Given the description of an element on the screen output the (x, y) to click on. 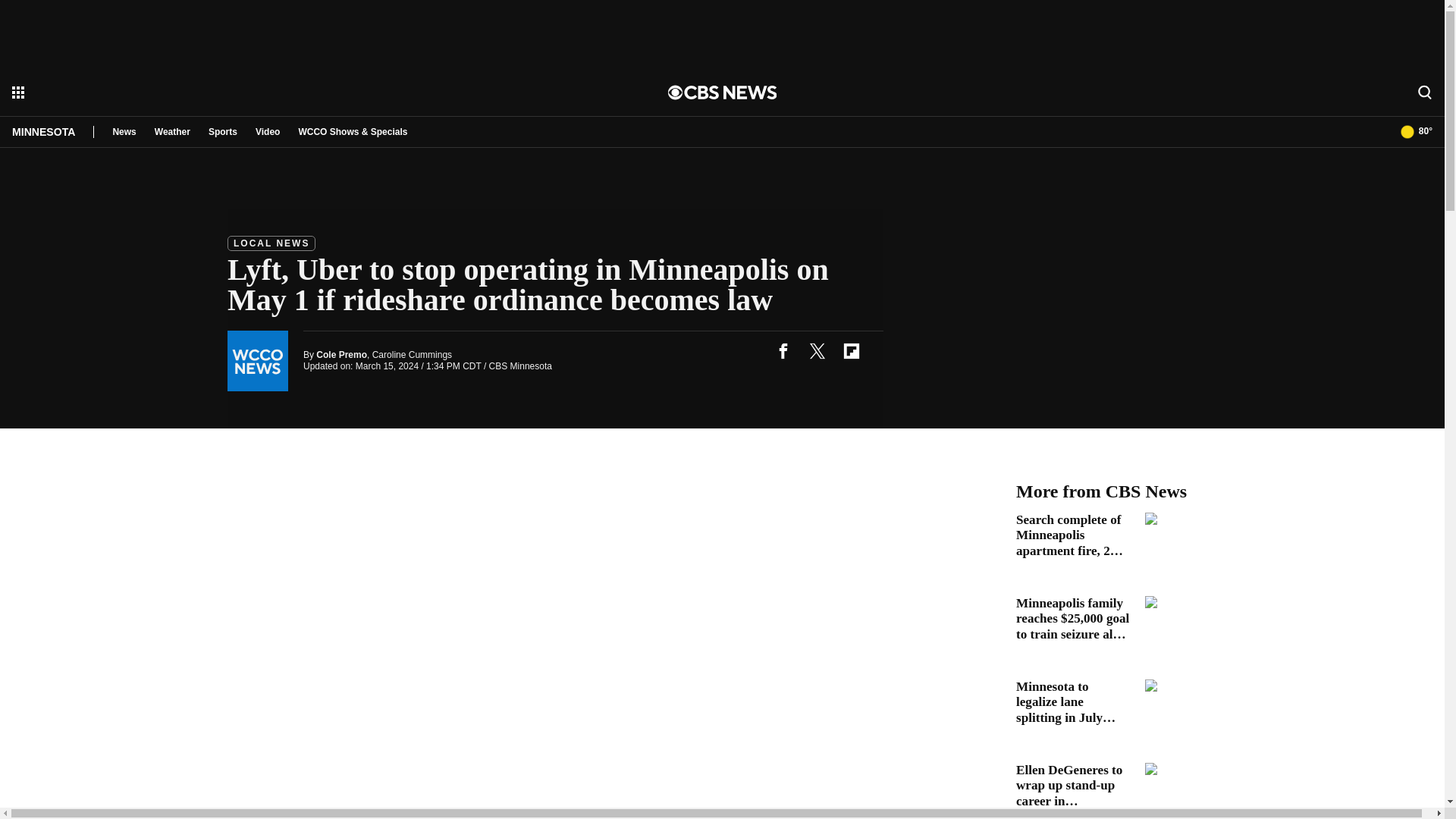
flipboard (850, 350)
twitter (816, 350)
facebook (782, 350)
